Given the description of an element on the screen output the (x, y) to click on. 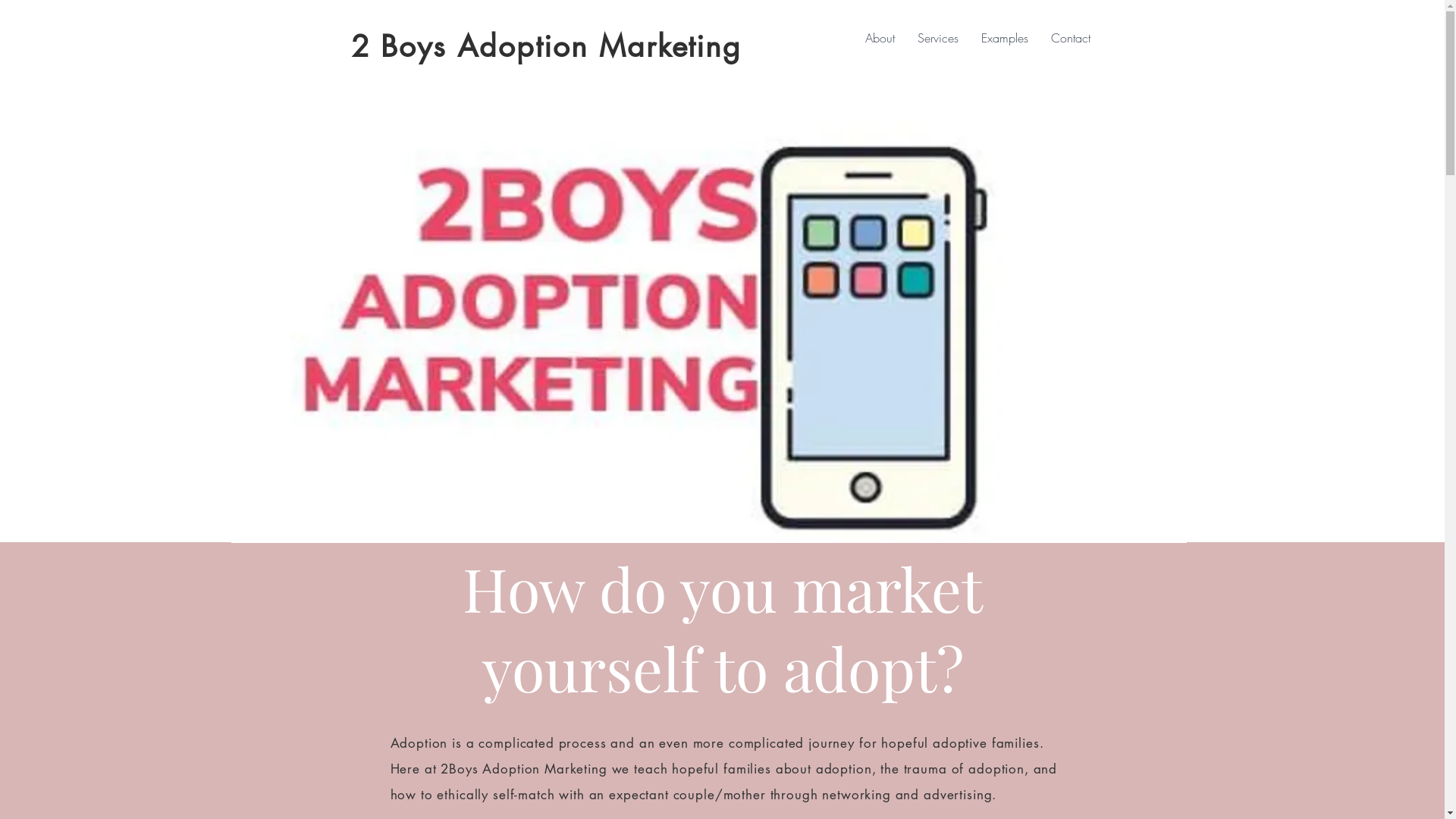
2 Boys Adoption Marketing Element type: text (545, 45)
Examples Element type: text (1003, 37)
About Element type: text (879, 37)
Services Element type: text (937, 37)
Contact Element type: text (1069, 37)
